Given the description of an element on the screen output the (x, y) to click on. 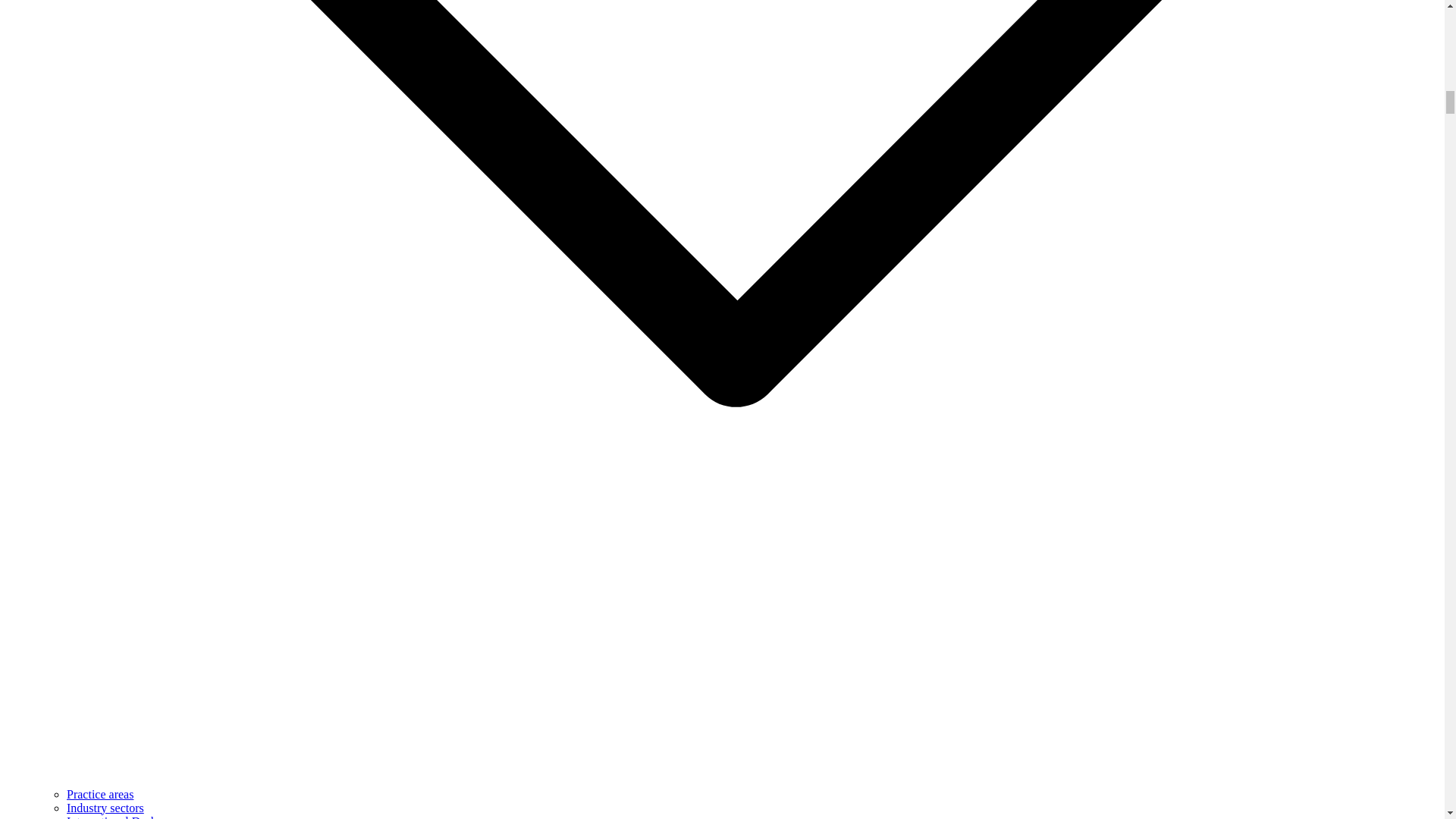
Industry sectors (105, 807)
International Desks (113, 816)
Practice areas (99, 793)
